Given the description of an element on the screen output the (x, y) to click on. 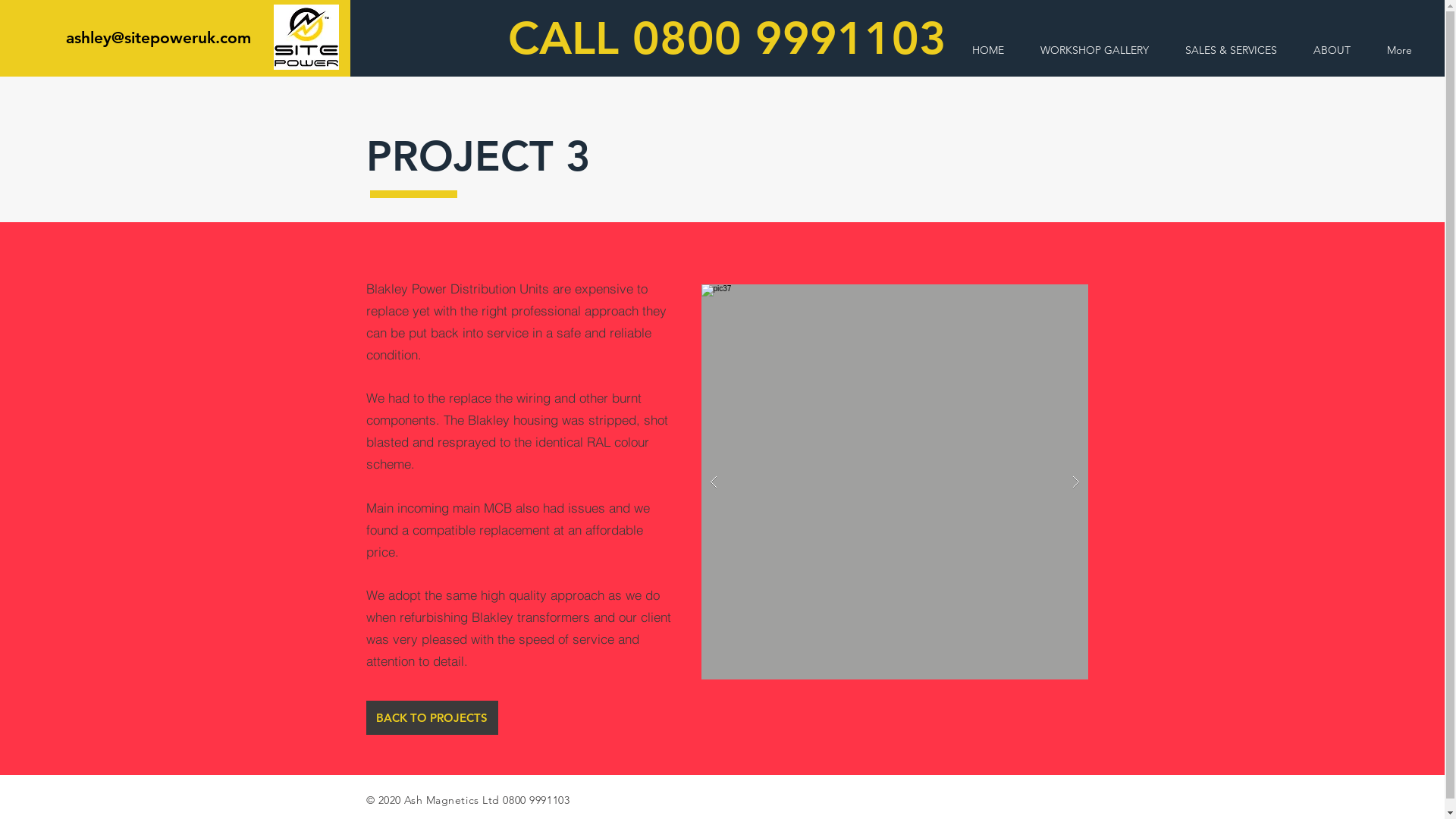
ashley@sitepoweruk.com Element type: text (158, 37)
BACK TO PROJECTS Element type: text (431, 717)
WORKSHOP GALLERY Element type: text (1094, 50)
HOME Element type: text (987, 50)
ABOUT Element type: text (1331, 50)
SALES & SERVICES Element type: text (1231, 50)
